Given the description of an element on the screen output the (x, y) to click on. 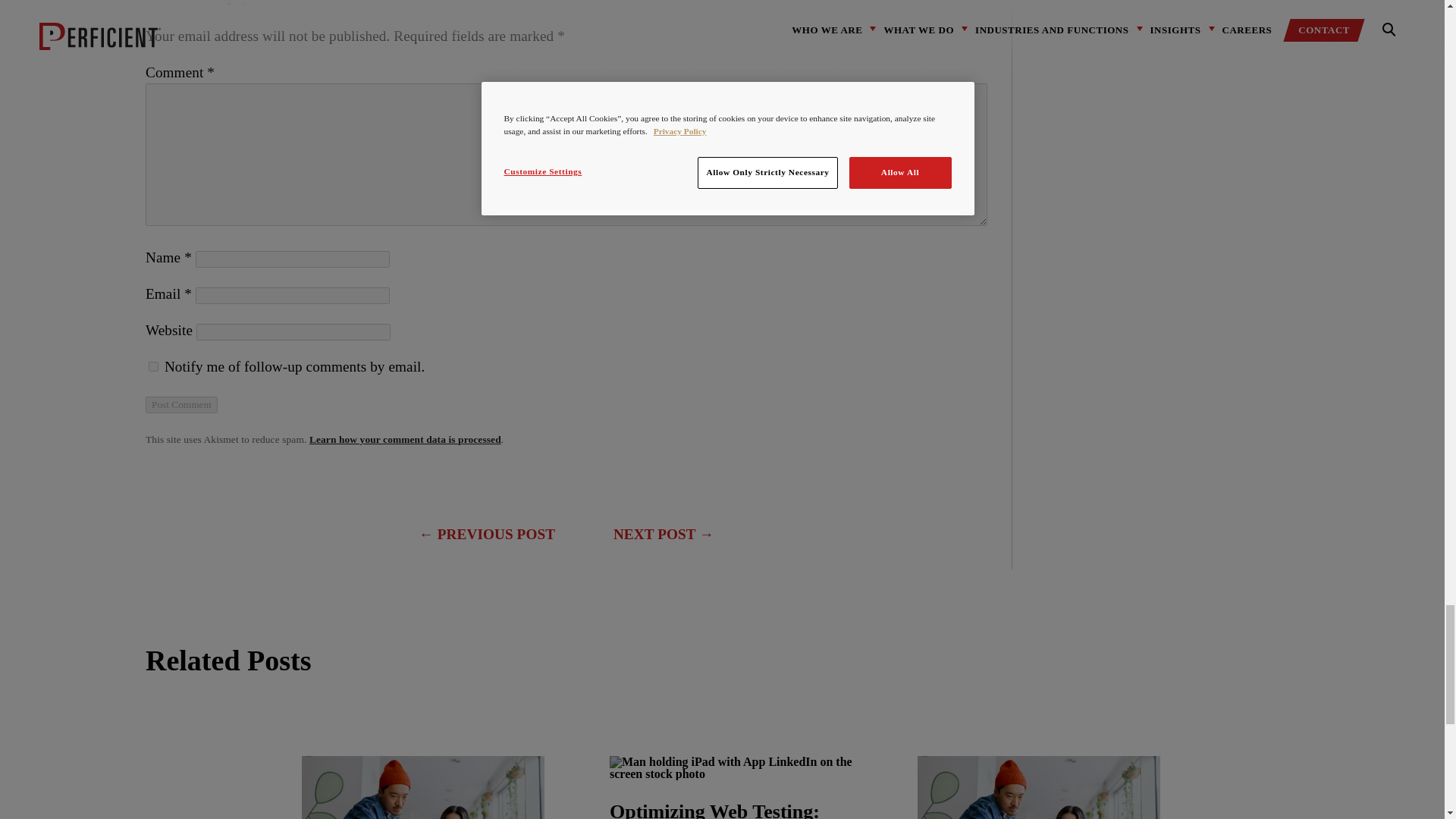
Learn how your comment data is processed (404, 439)
Post Comment (180, 404)
subscribe (153, 366)
Post Comment (180, 404)
